Given the description of an element on the screen output the (x, y) to click on. 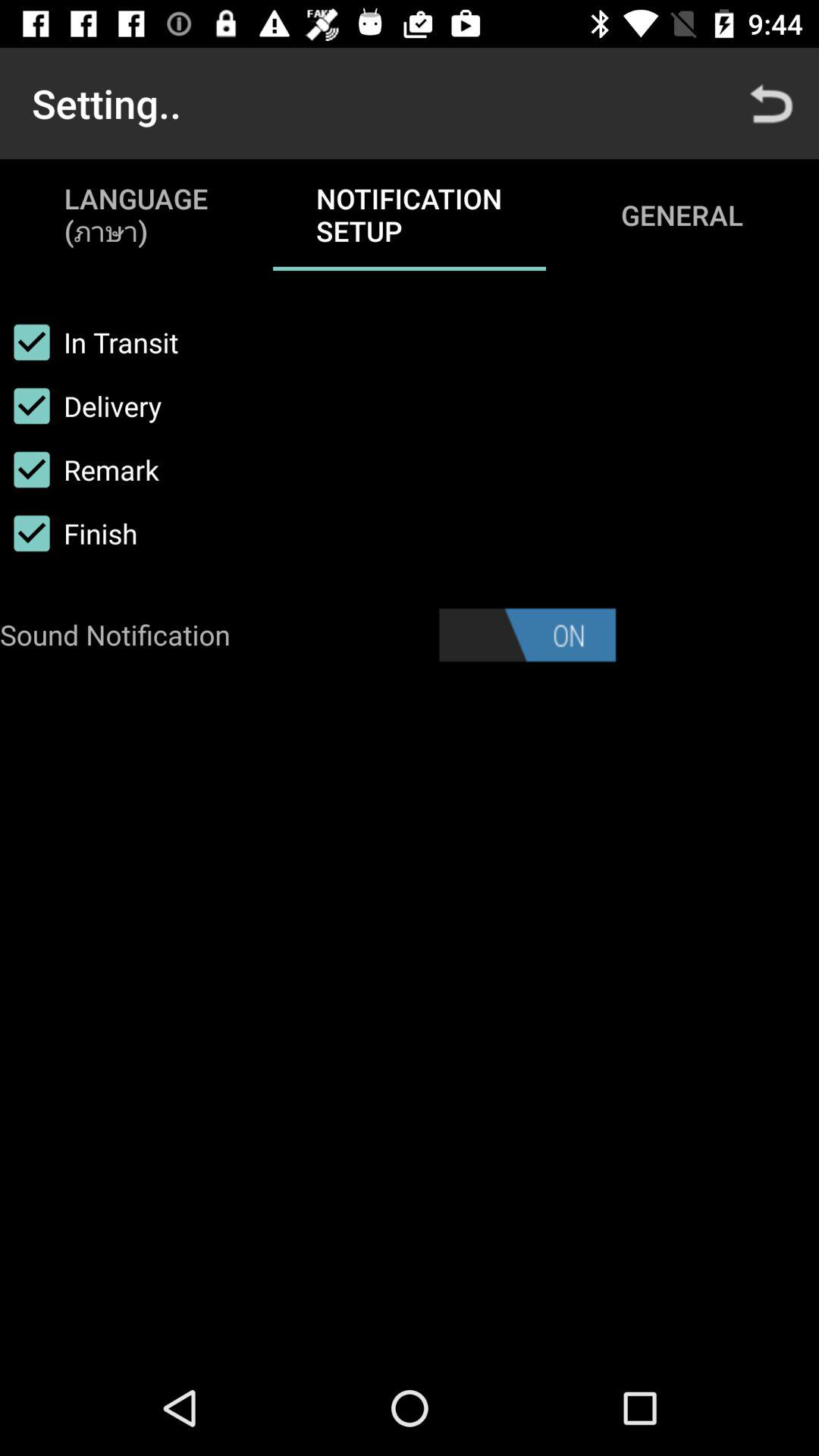
press delivery (80, 405)
